Given the description of an element on the screen output the (x, y) to click on. 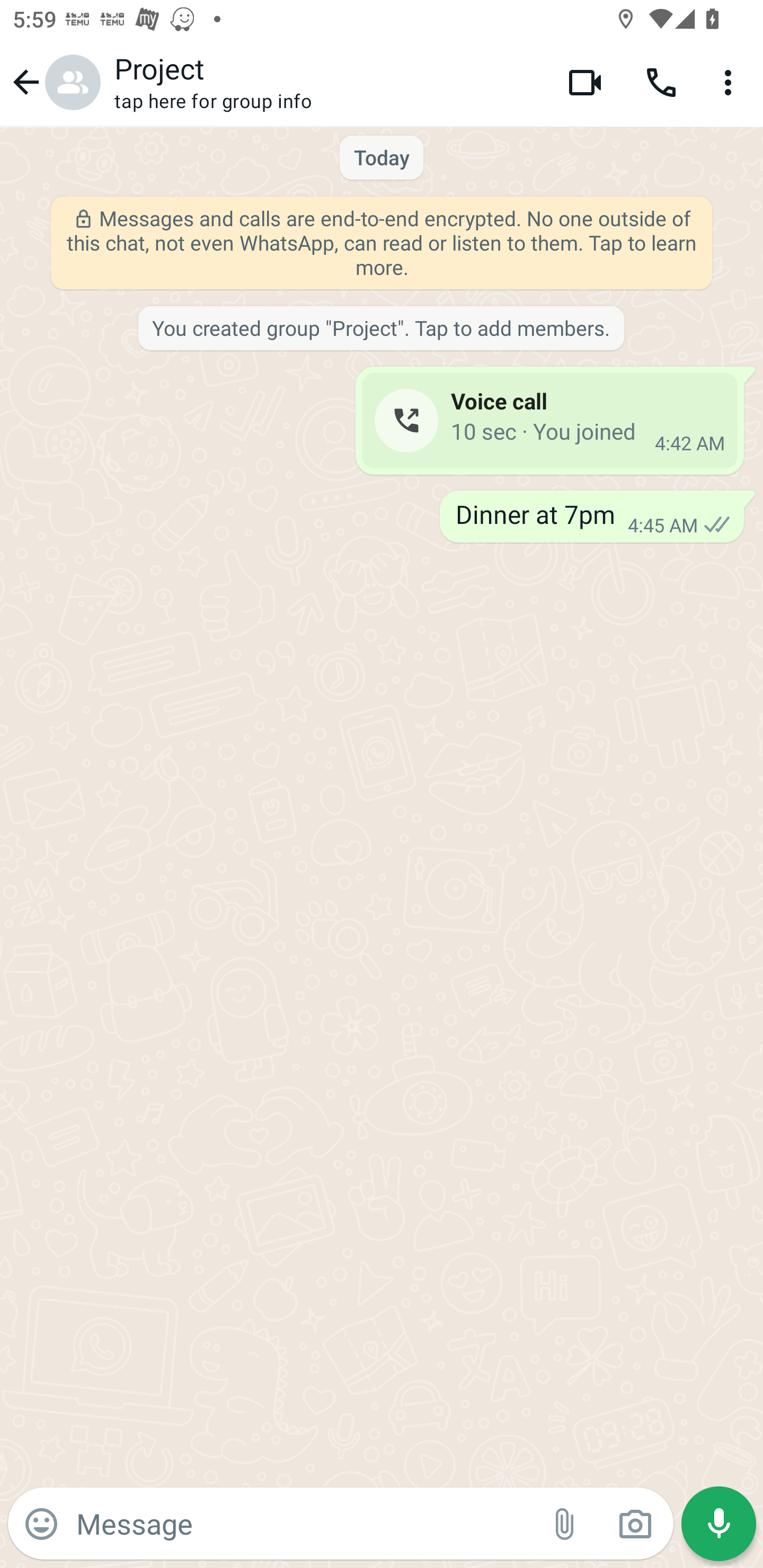
Project tap here for group info (327, 82)
Navigate up (54, 82)
Video call (585, 81)
Voice call (661, 81)
More options (731, 81)
You created group "Project". Tap to add members. (381, 329)
Emoji (41, 1523)
Attach (565, 1523)
Camera (634, 1523)
Message (303, 1523)
